Given the description of an element on the screen output the (x, y) to click on. 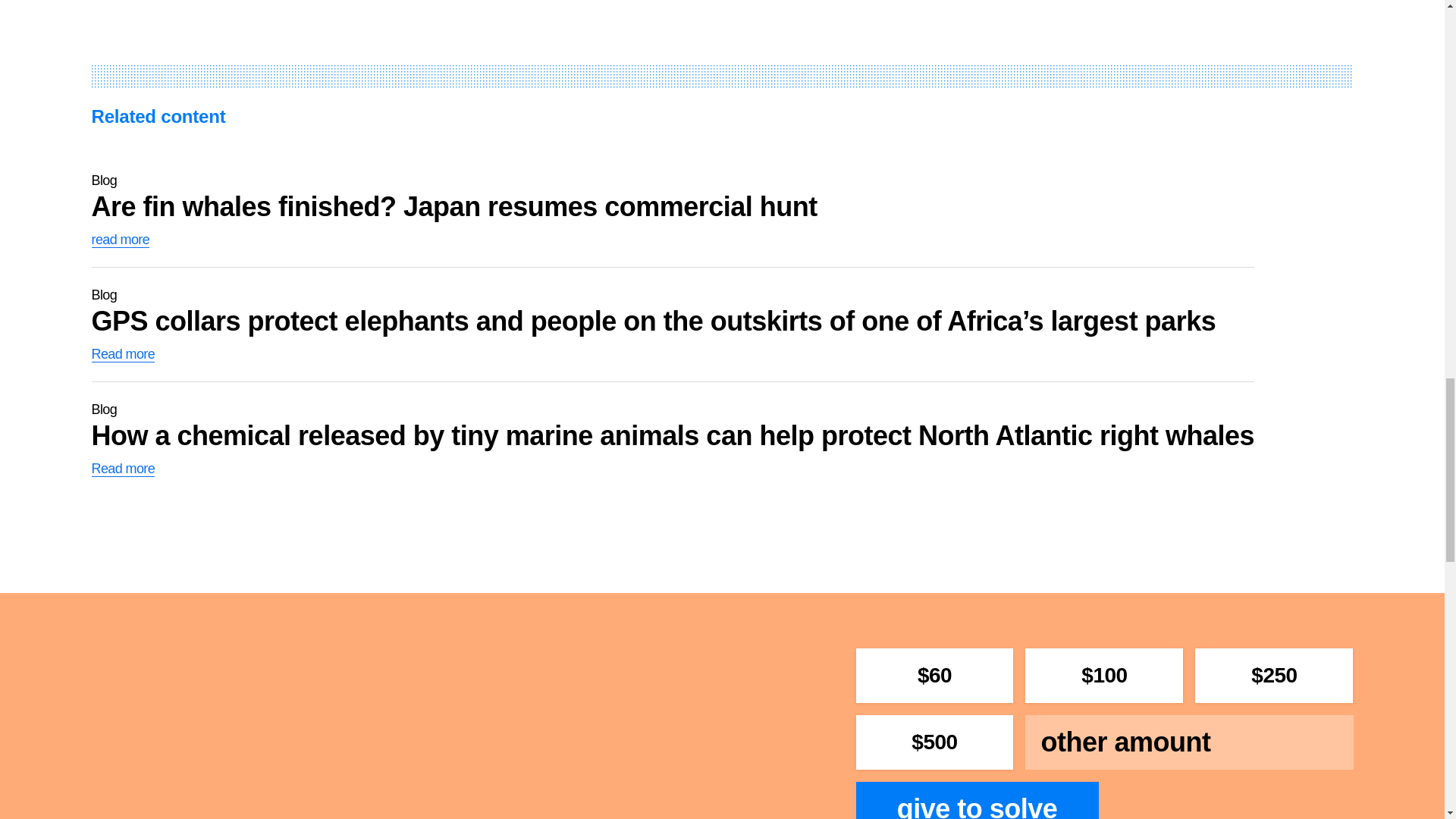
give to solve (976, 800)
